Given the description of an element on the screen output the (x, y) to click on. 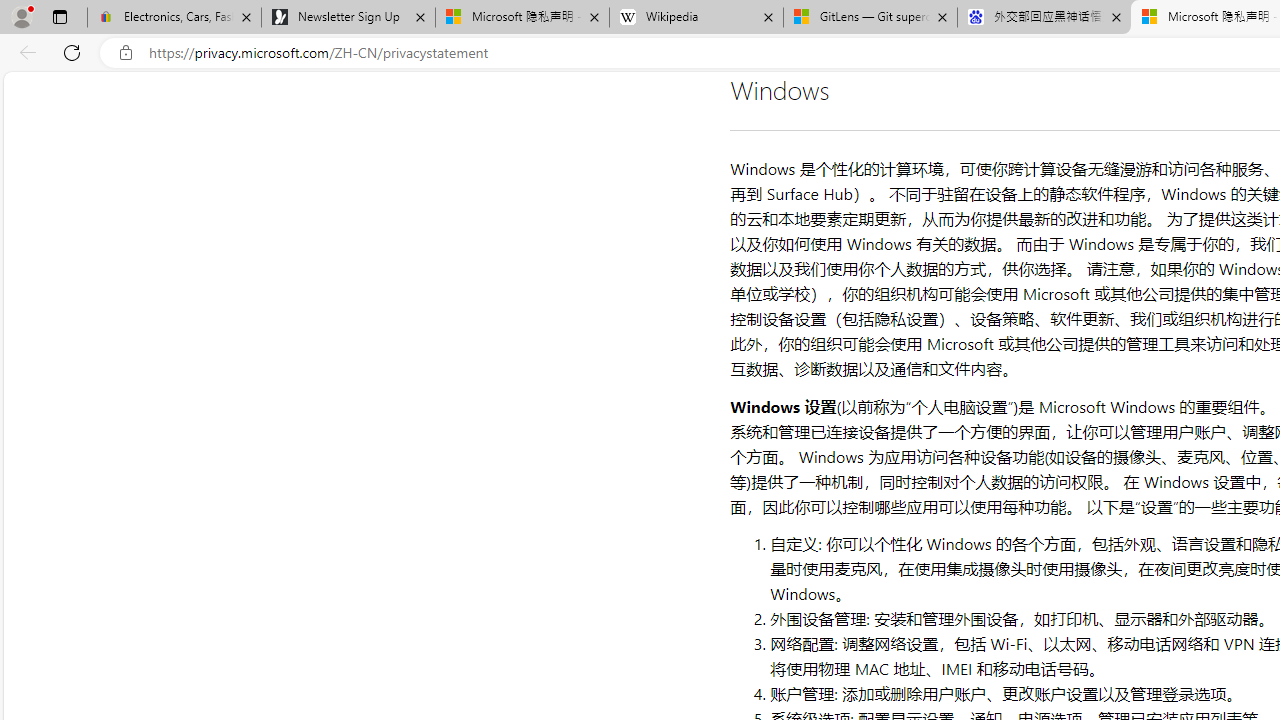
Newsletter Sign Up (348, 17)
Wikipedia (696, 17)
